Given the description of an element on the screen output the (x, y) to click on. 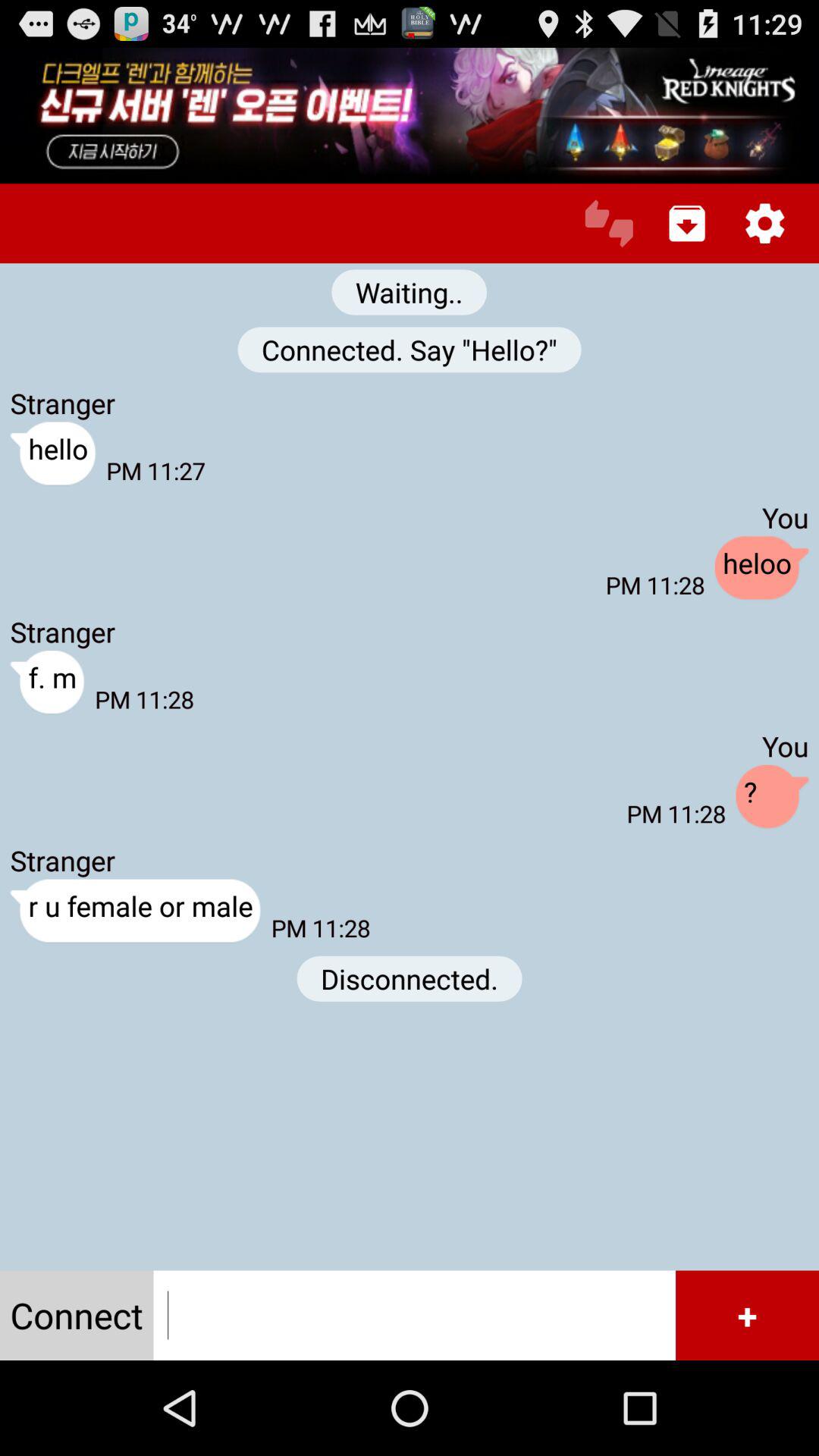
settings (764, 223)
